Given the description of an element on the screen output the (x, y) to click on. 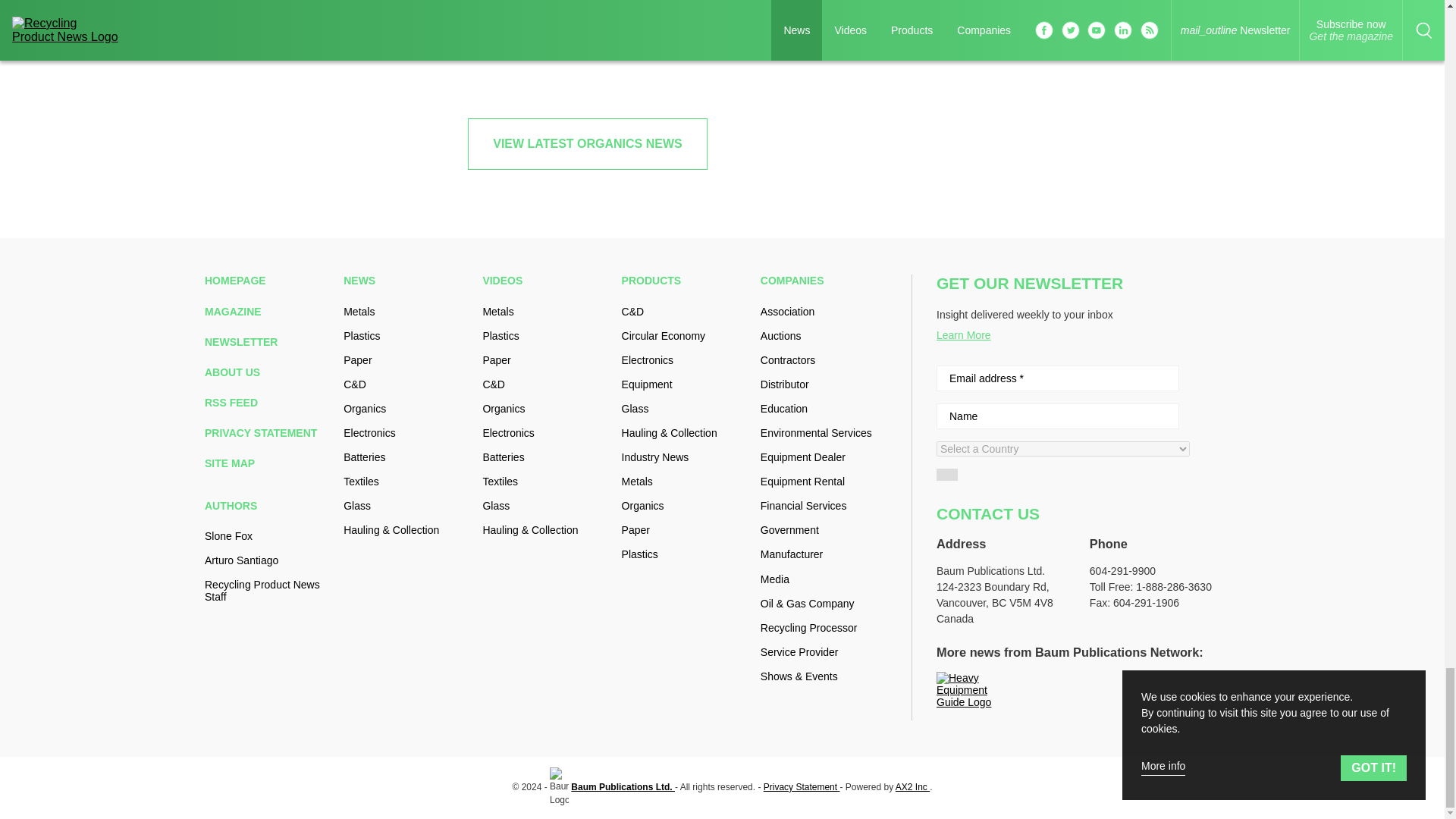
MAGAZINE (268, 310)
VIEW LATEST ORGANICS NEWS (586, 143)
SITE MAP (268, 463)
PRIVACY STATEMENT (268, 432)
ABOUT US (268, 372)
HOMEPAGE (268, 280)
Slone Fox (268, 535)
NEWSLETTER (268, 341)
RSS FEED (268, 402)
